Given the description of an element on the screen output the (x, y) to click on. 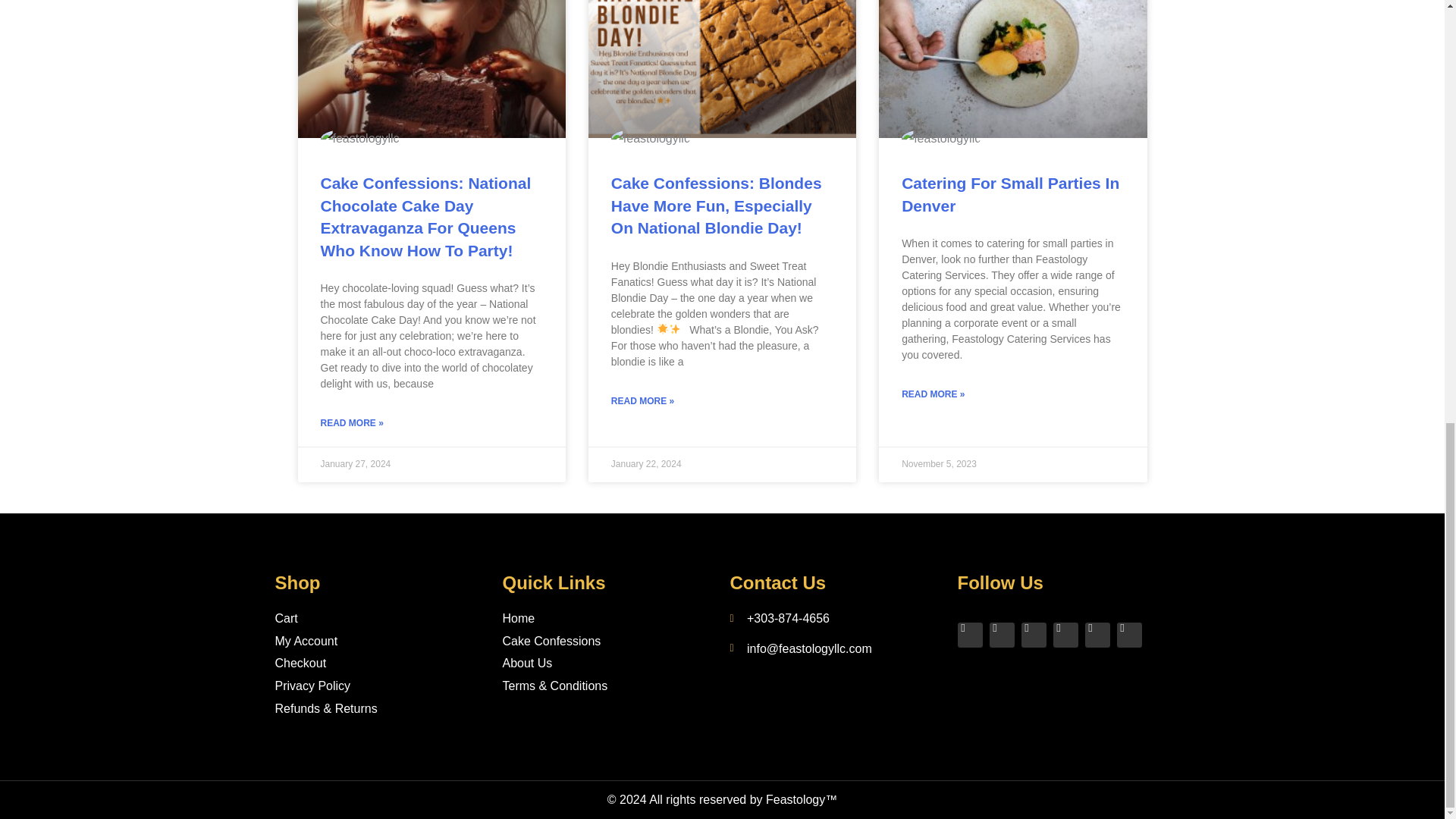
Privacy Policy (380, 685)
My Account (380, 640)
Catering For Small Parties In Denver (1010, 193)
Cart (380, 618)
Shop (297, 582)
Home (608, 618)
Checkout (380, 662)
Cake Confessions (608, 640)
